Given the description of an element on the screen output the (x, y) to click on. 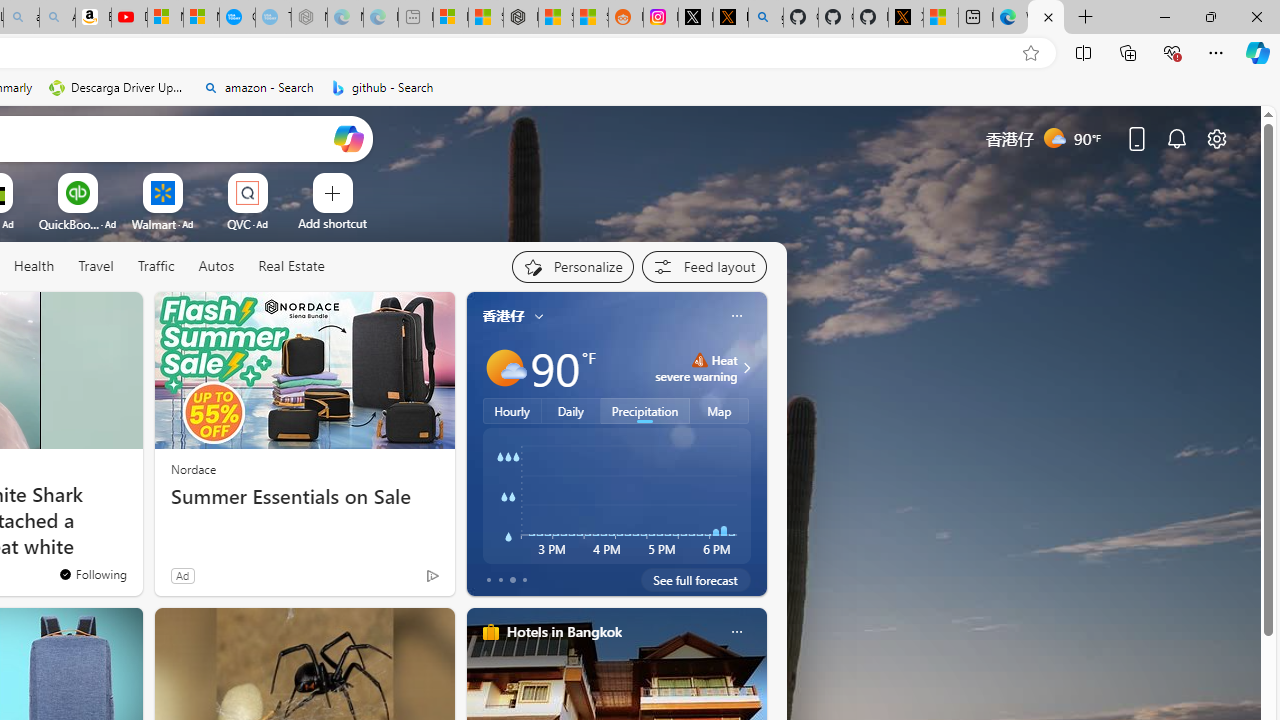
X Privacy Policy (905, 17)
Personalize your feed" (571, 266)
